Given the description of an element on the screen output the (x, y) to click on. 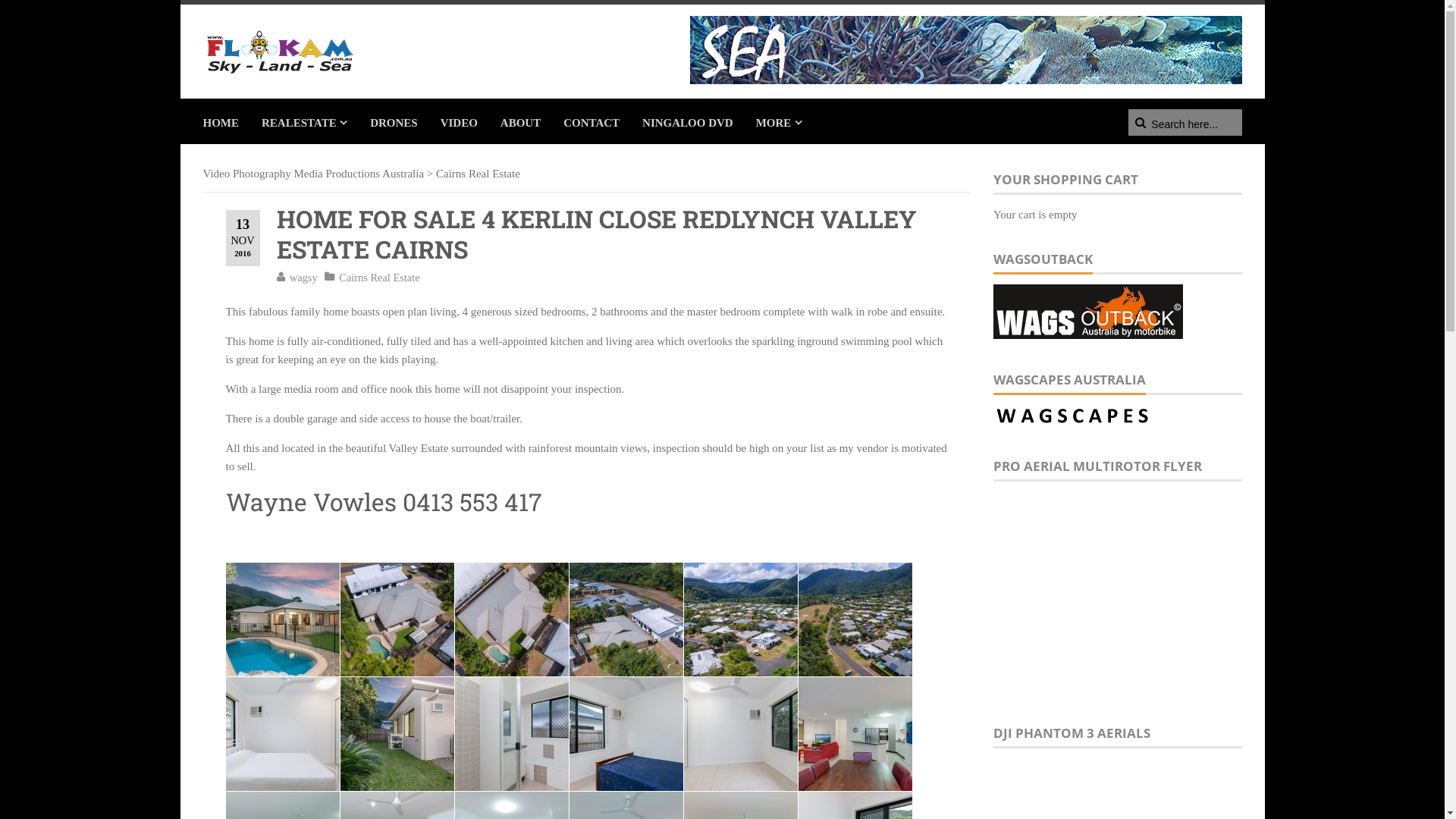
ABOUT Element type: text (520, 121)
REALESTATE Element type: text (304, 121)
Cairns Real Estate Element type: text (478, 173)
HOME Element type: text (220, 121)
wagsy Element type: text (303, 277)
DRONES Element type: text (393, 121)
CONTACT Element type: text (591, 121)
Skip to content Element type: text (178, 3)
Video Photography Media Productions Australia Element type: text (313, 173)
13
NOV
2016 Element type: text (242, 237)
NINGALOO DVD Element type: text (687, 121)
MORE Element type: text (778, 121)
Cairns Real Estate Element type: text (378, 277)
VIDEO Element type: text (459, 121)
